Given the description of an element on the screen output the (x, y) to click on. 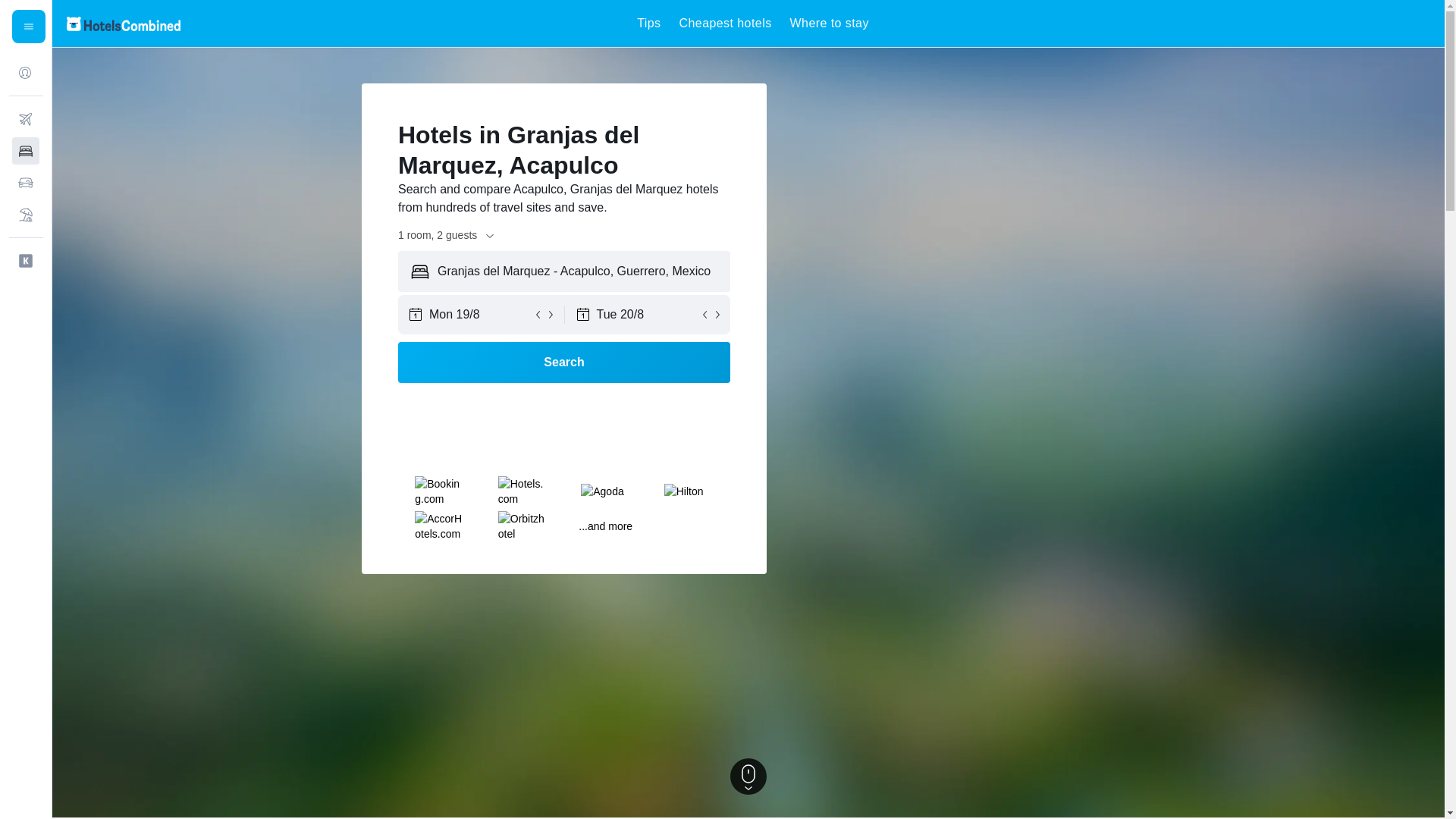
Search (563, 362)
1 room, 2 guests (446, 235)
Search (563, 362)
